Given the description of an element on the screen output the (x, y) to click on. 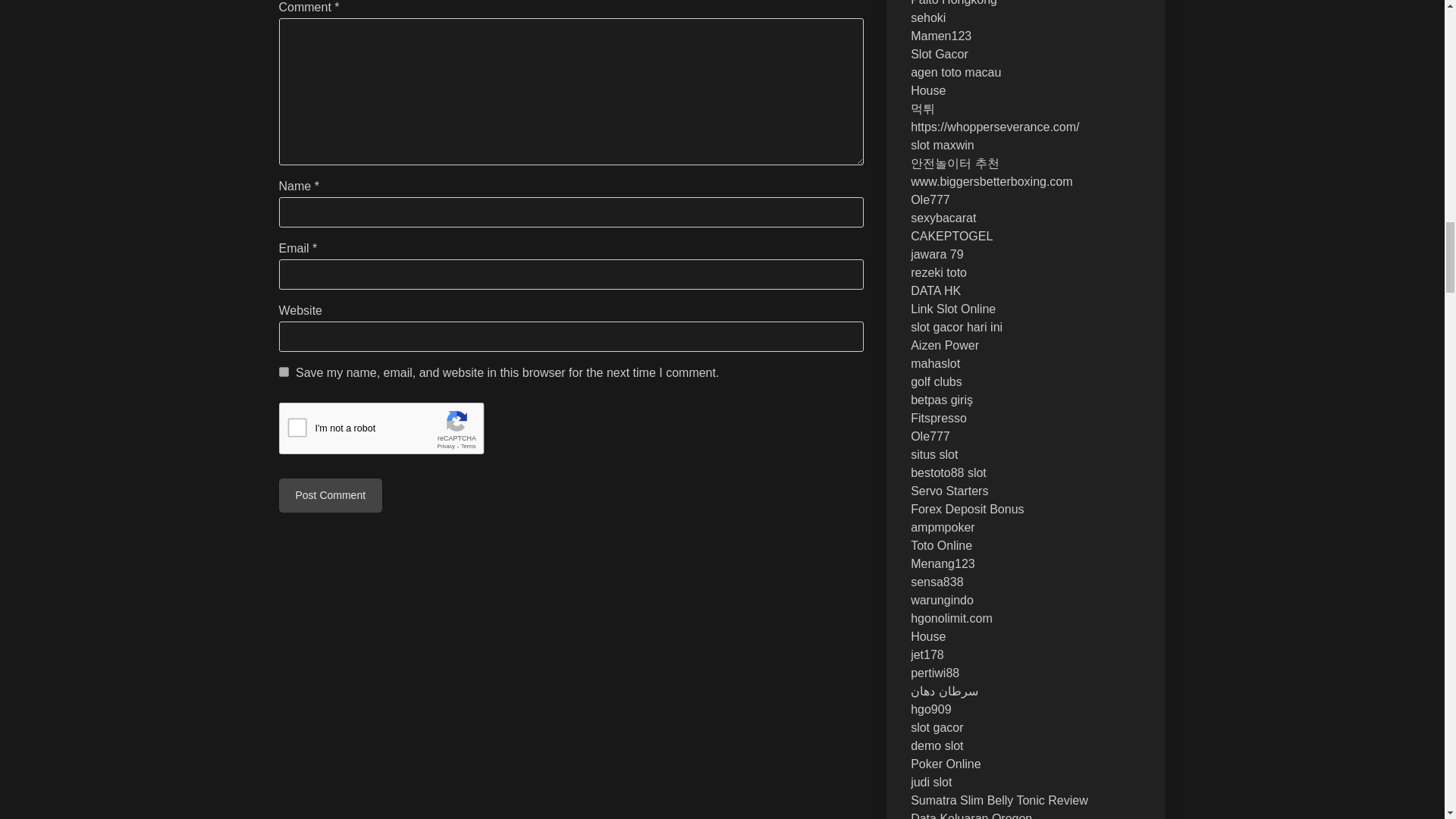
reCAPTCHA (394, 431)
yes (283, 371)
Post Comment (330, 495)
Post Comment (330, 495)
